Given the description of an element on the screen output the (x, y) to click on. 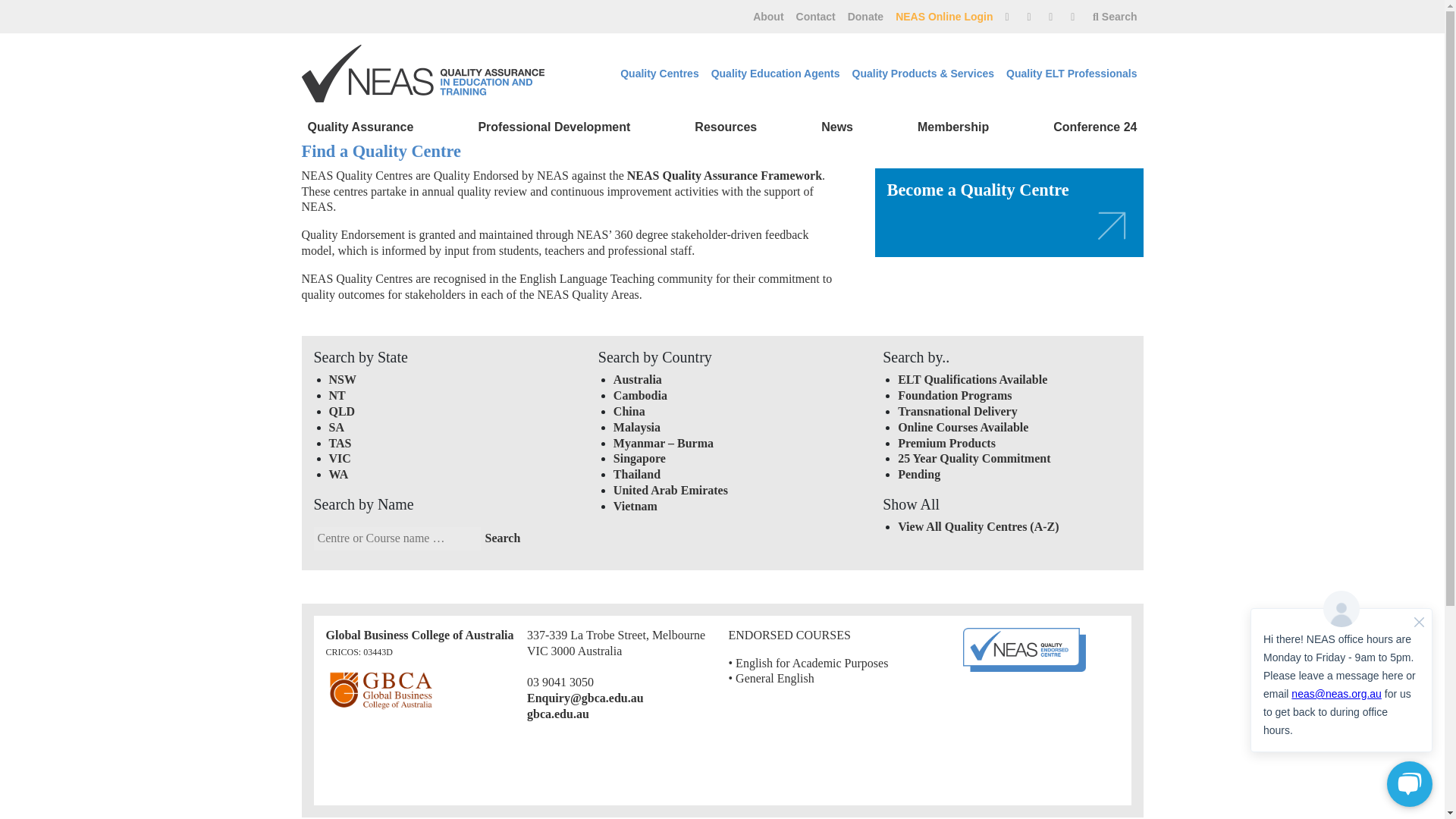
Professional Development (553, 127)
Resources (725, 127)
Search (502, 538)
About (767, 16)
Conference 24 (1094, 127)
YouTube (1031, 16)
Contact (815, 16)
Quality Assurance (360, 127)
Facebook (1053, 16)
Donate (865, 16)
Search (1114, 16)
NEAS Online Login (943, 16)
